Given the description of an element on the screen output the (x, y) to click on. 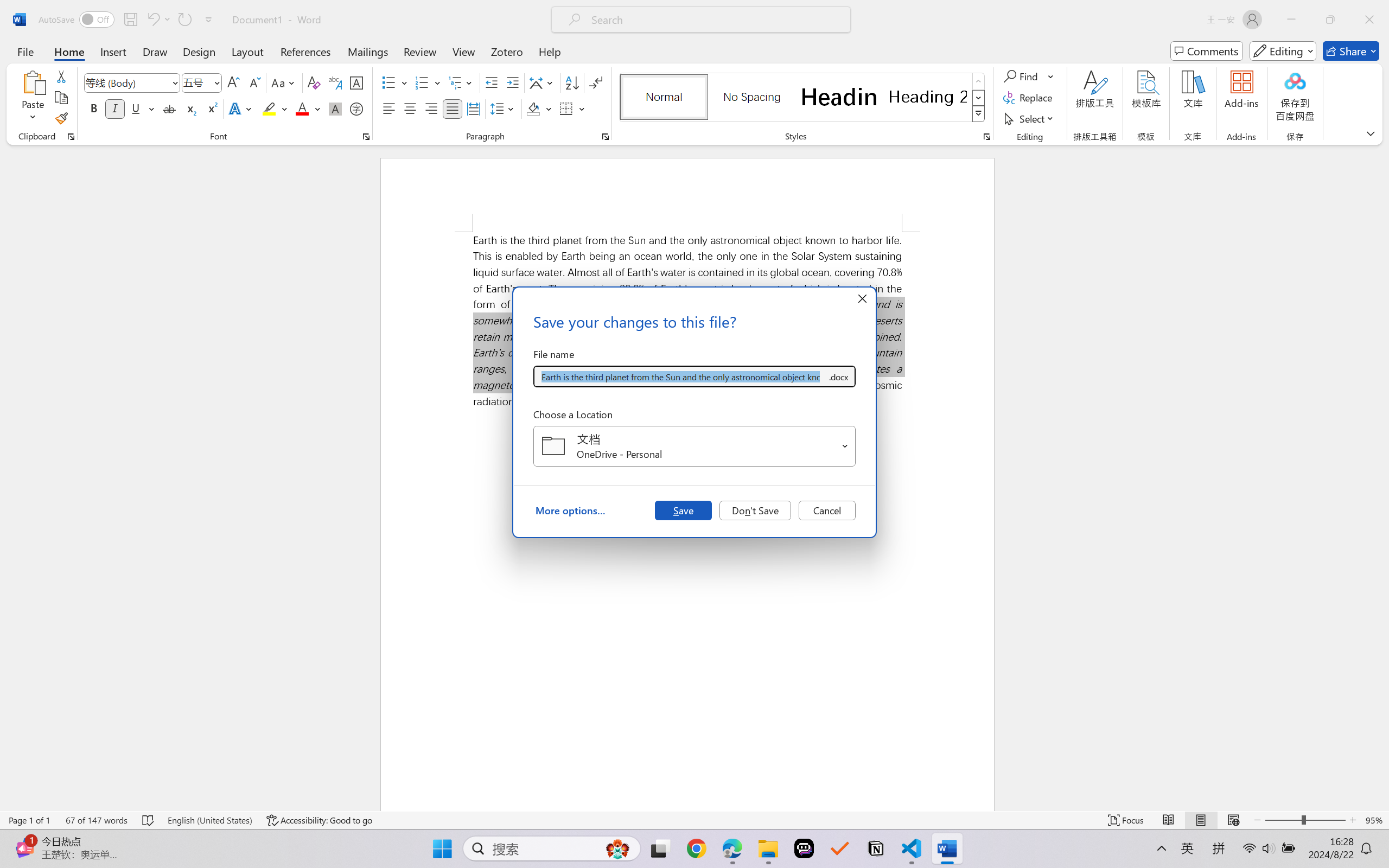
Strikethrough (169, 108)
Copy (60, 97)
Notion (875, 848)
Font Color (308, 108)
Subscript (190, 108)
Phonetic Guide... (334, 82)
Styles (978, 113)
